Given the description of an element on the screen output the (x, y) to click on. 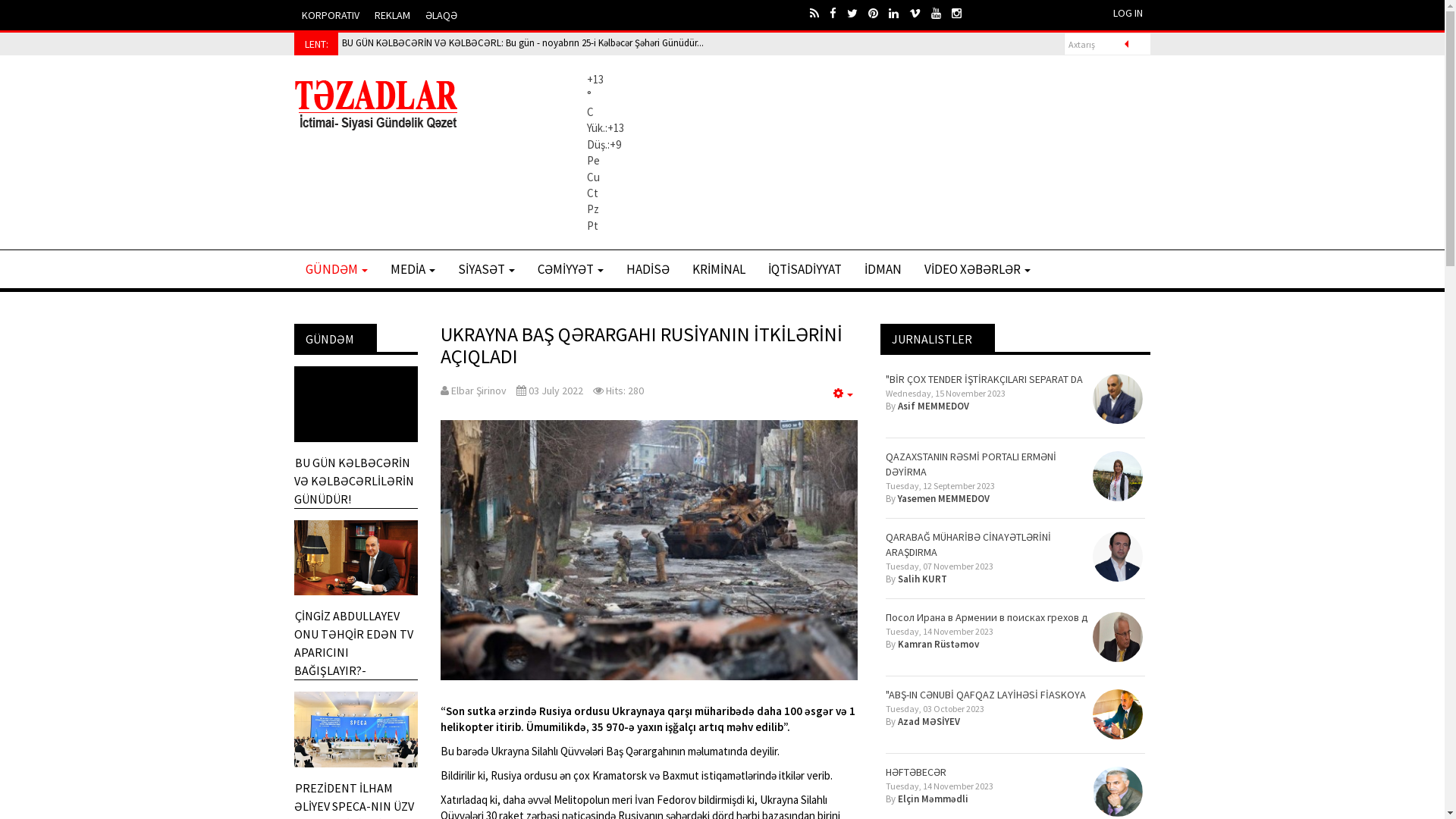
  Element type: text (898, 13)
  Element type: text (857, 13)
  Element type: text (878, 13)
  Element type: text (838, 13)
Empty Element type: text (842, 392)
Yasemen MEMMEDOV Element type: text (943, 498)
Salih KURT Element type: text (922, 578)
  Element type: text (819, 13)
  Element type: text (961, 13)
  Element type: text (941, 13)
  Element type: text (920, 13)
KORPORATIV Element type: text (330, 15)
Asif MEMMEDOV Element type: text (933, 405)
REKLAM Element type: text (392, 15)
